Given the description of an element on the screen output the (x, y) to click on. 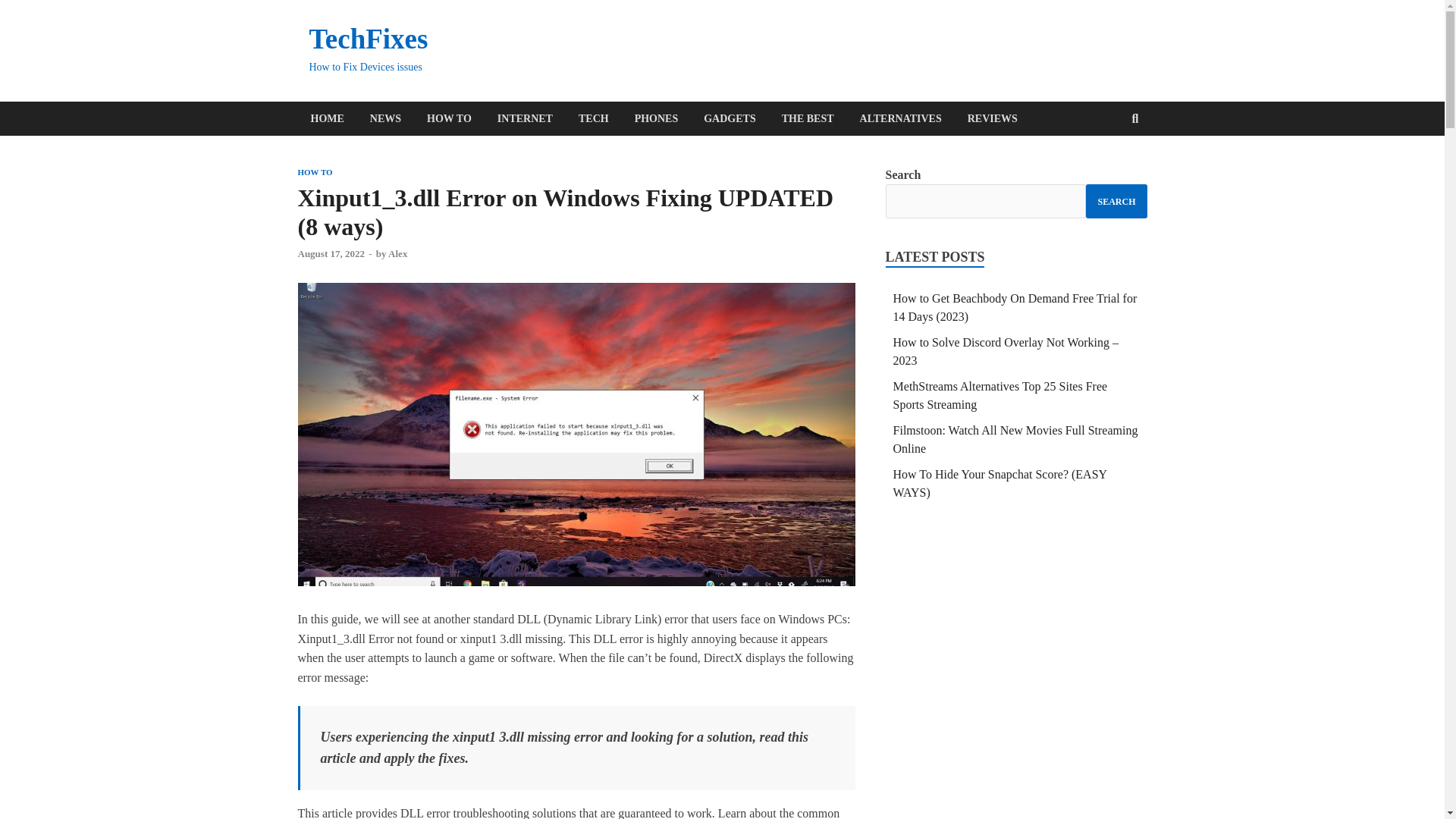
HOME (326, 118)
TechFixes (368, 38)
PHONES (656, 118)
HOW TO (448, 118)
GADGETS (729, 118)
TECH (593, 118)
Alex (397, 253)
REVIEWS (992, 118)
THE BEST (807, 118)
NEWS (384, 118)
